Given the description of an element on the screen output the (x, y) to click on. 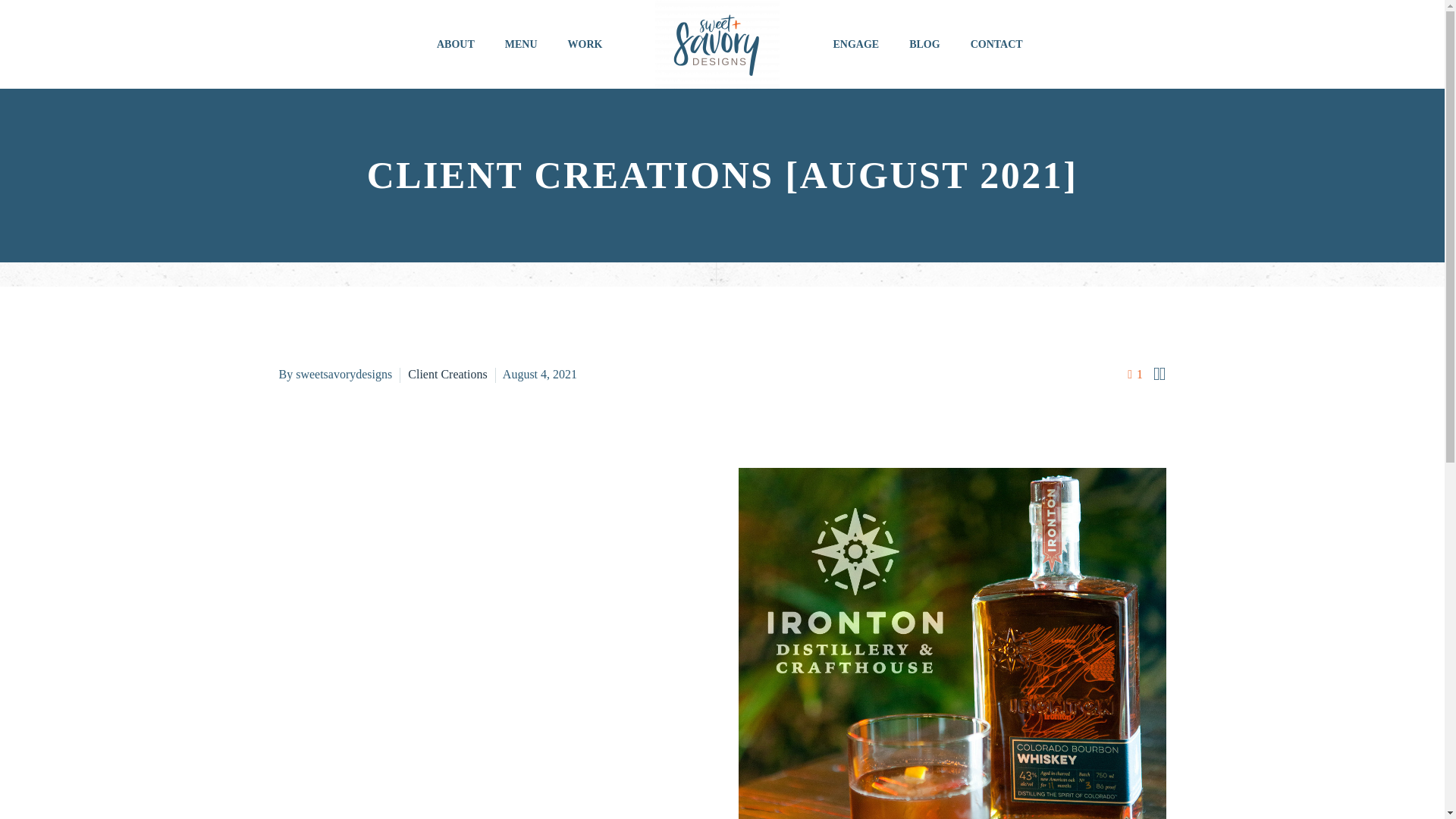
Client Creations (448, 373)
ENGAGE (854, 44)
ABOUT (455, 44)
View all posts in Client Creations  (448, 373)
WORK (585, 44)
CONTACT (996, 44)
